Given the description of an element on the screen output the (x, y) to click on. 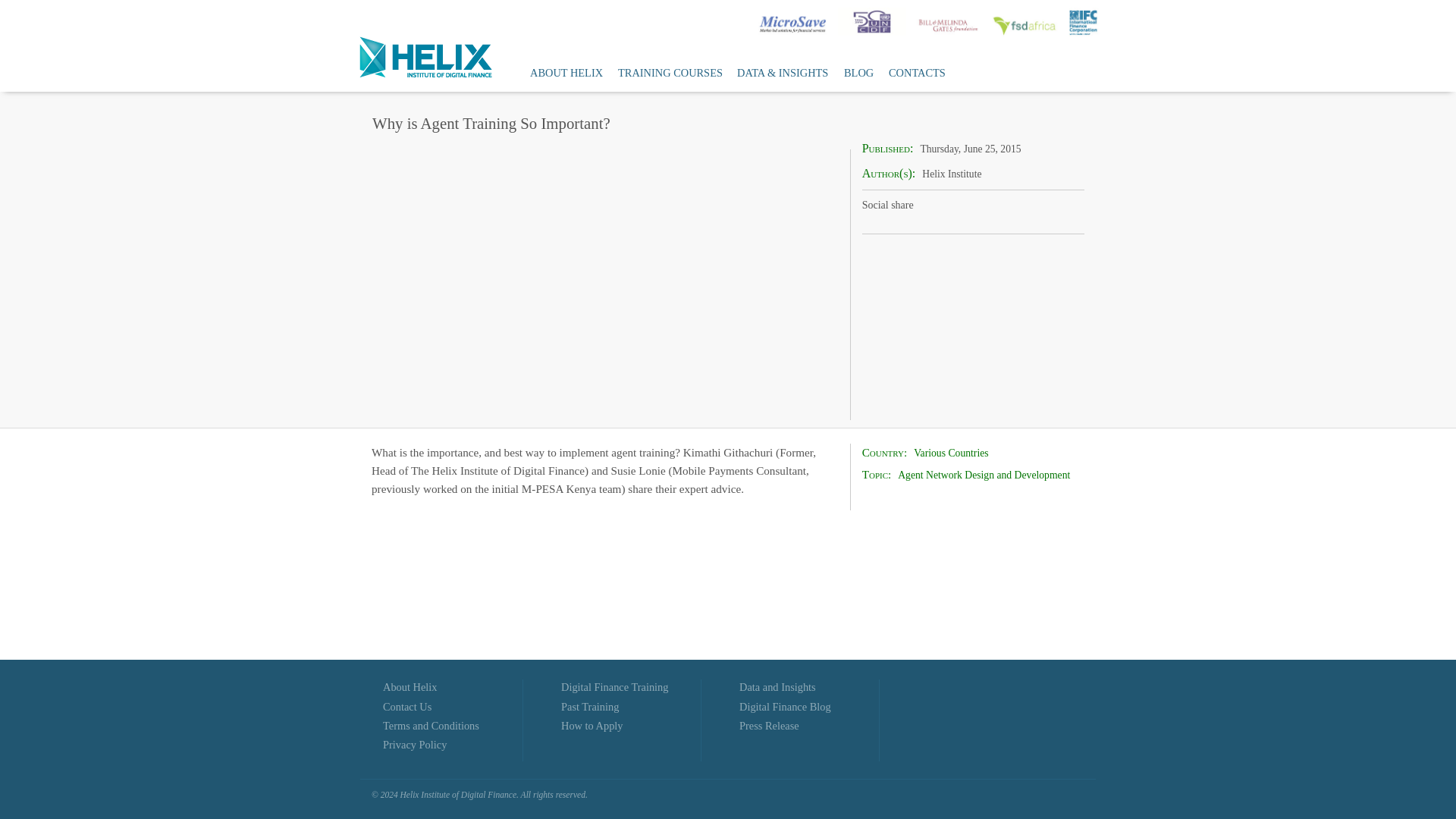
Terms and Conditions (430, 725)
Privacy Policy (414, 744)
About Helix (410, 686)
Twitter (980, 210)
Data and Insights (777, 686)
Digital Finance Blog (785, 706)
Past Training (589, 706)
Linked In (1011, 210)
TRAINING COURSES (669, 72)
How to Apply (591, 725)
Facebook (949, 210)
Digital Finance Training (614, 686)
ABOUT HELIX (565, 72)
Press Release (769, 725)
CONTACTS (916, 72)
